Given the description of an element on the screen output the (x, y) to click on. 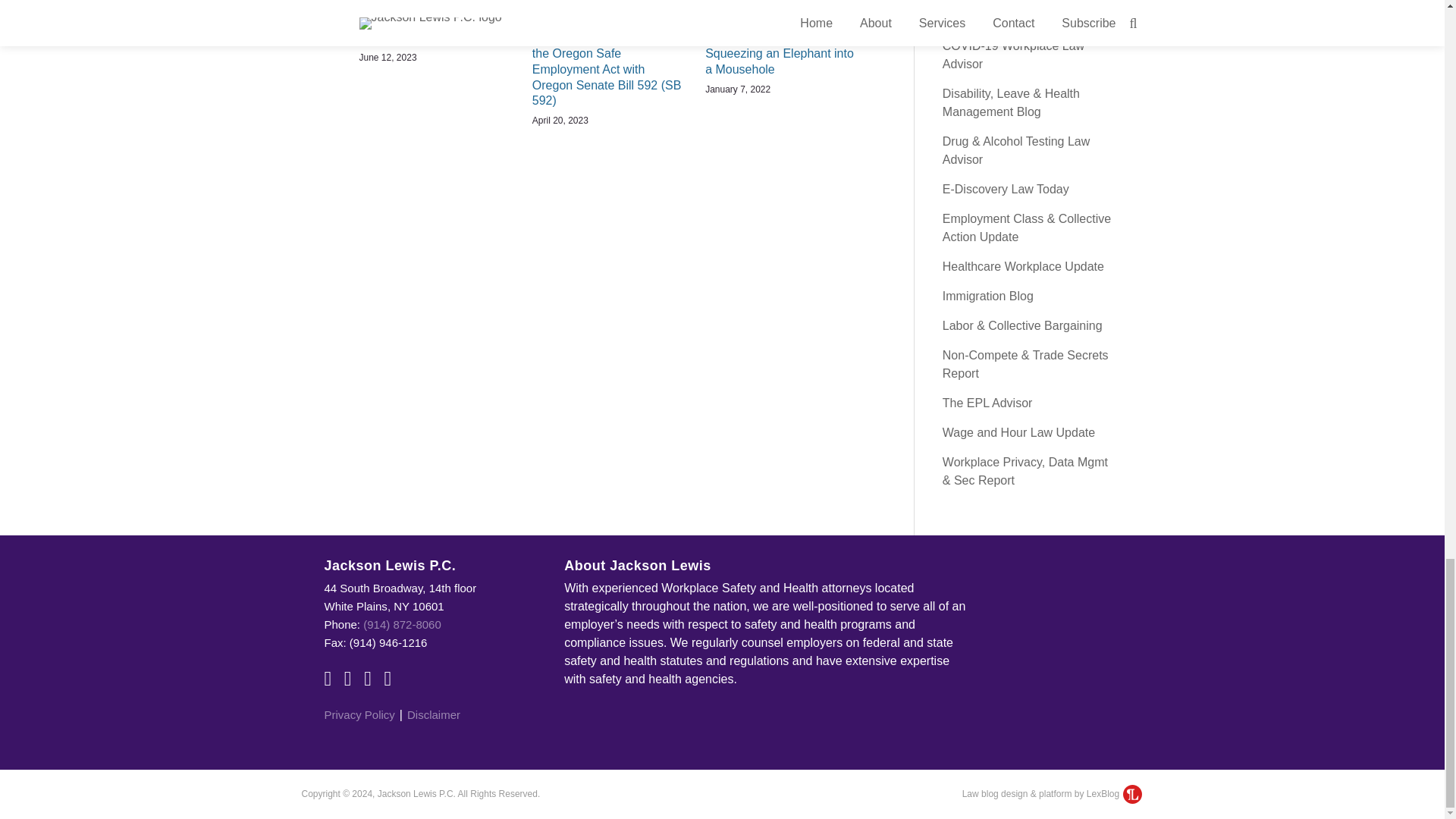
LexBlog Logo (1131, 793)
